Given the description of an element on the screen output the (x, y) to click on. 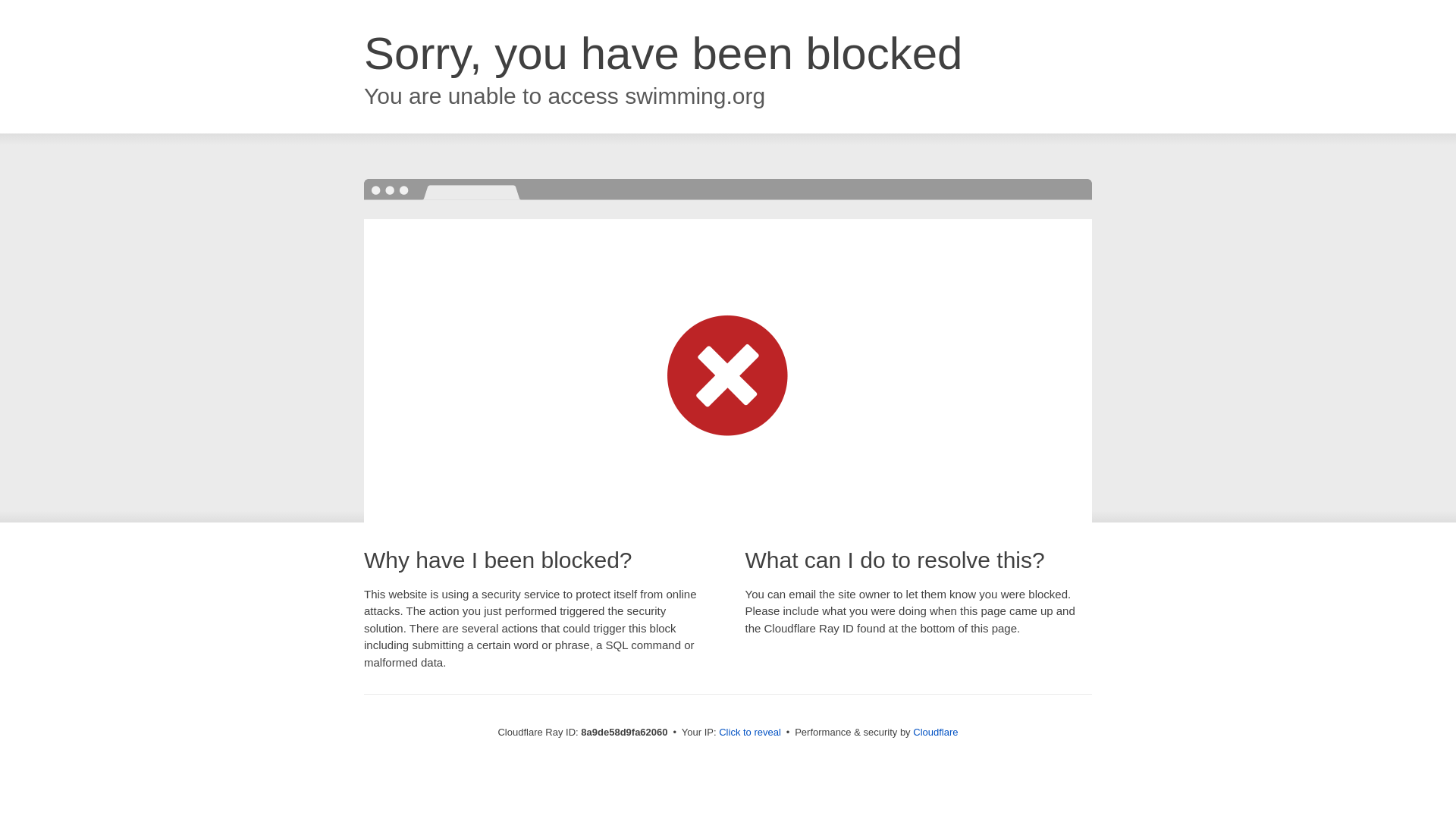
Cloudflare (935, 731)
Click to reveal (749, 732)
